Given the description of an element on the screen output the (x, y) to click on. 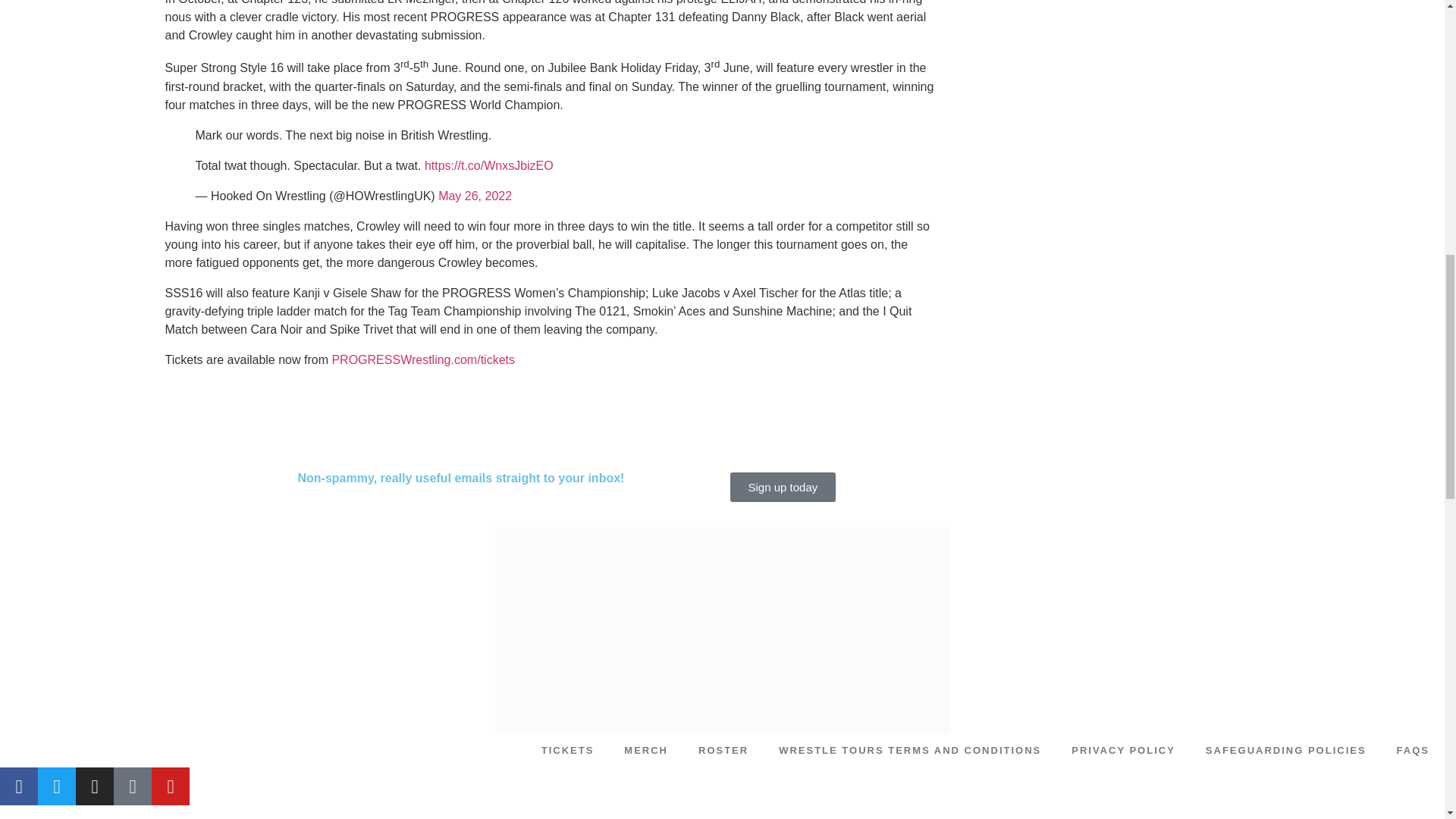
TICKETS (567, 750)
PRIVACY POLICY (1124, 750)
May 26, 2022 (475, 195)
Sign up today (782, 487)
WRESTLE TOURS TERMS AND CONDITIONS (909, 750)
MERCH (645, 750)
ROSTER (722, 750)
